Given the description of an element on the screen output the (x, y) to click on. 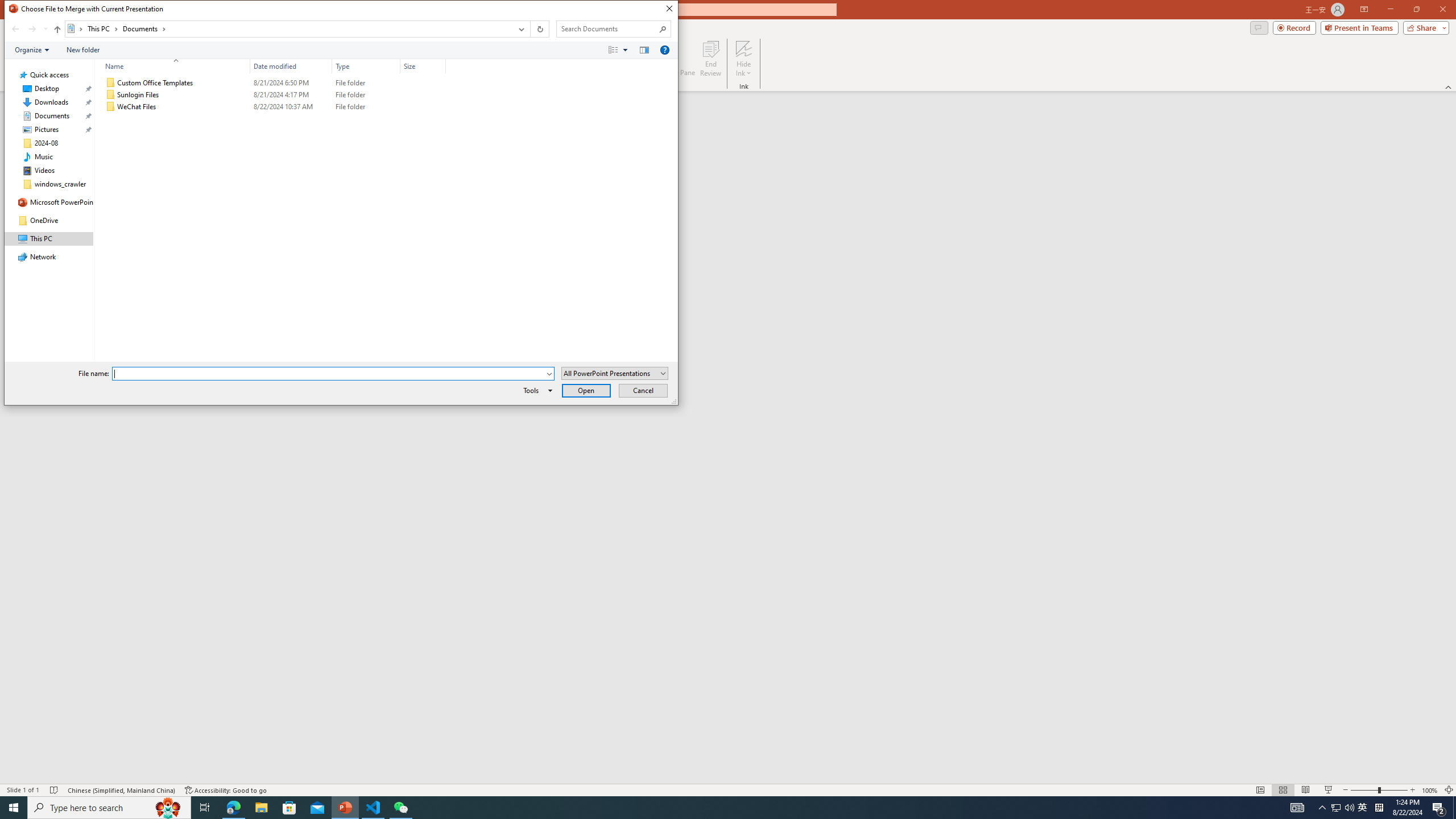
Up band toolbar (57, 30)
Forward (Alt + Right Arrow) (31, 28)
Name (173, 65)
Cancel (643, 390)
Size (422, 65)
WeChat Files (273, 106)
Size (422, 106)
